Given the description of an element on the screen output the (x, y) to click on. 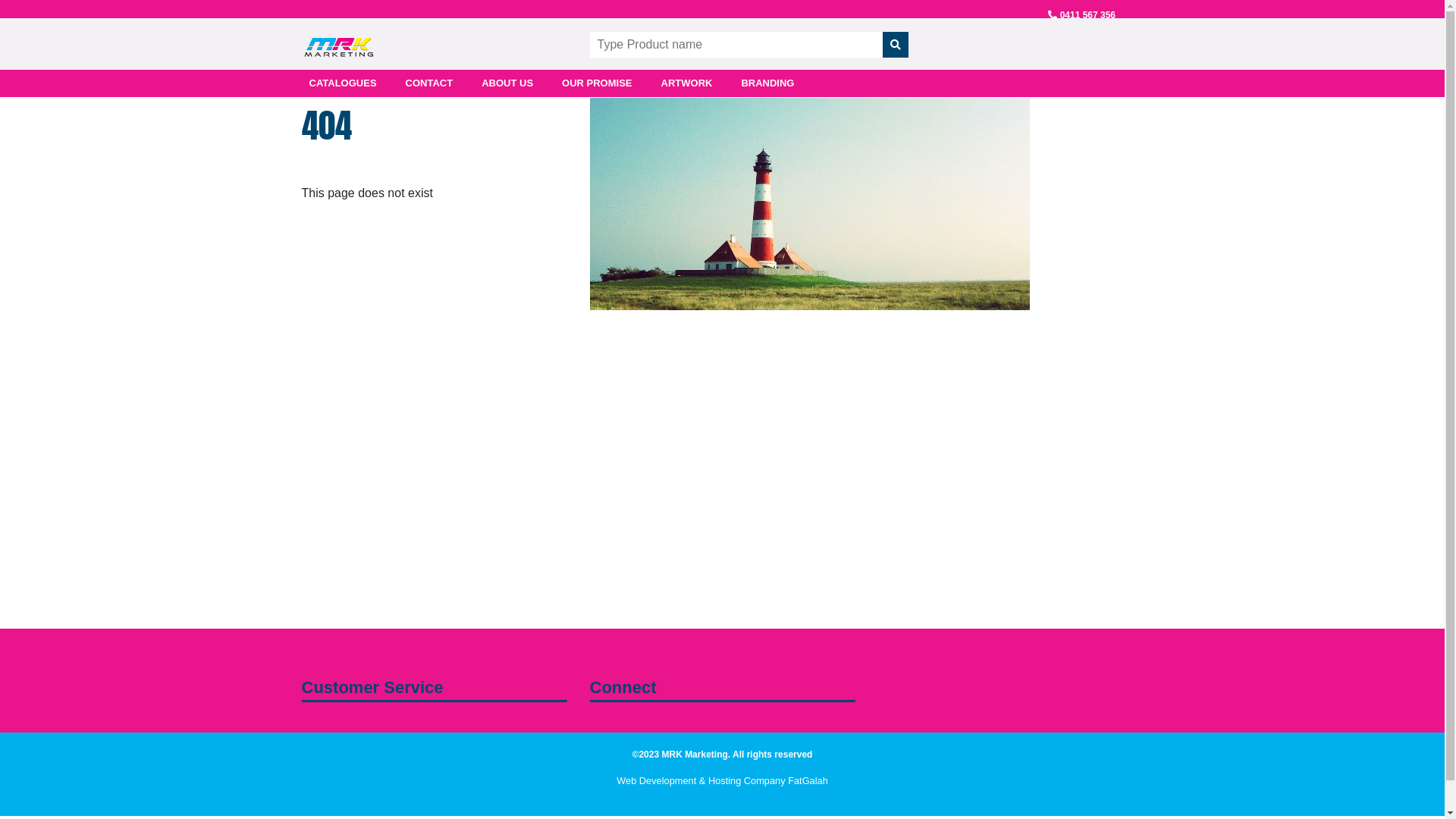
product title Element type: hover (746, 44)
0411 567 356 Element type: text (1087, 14)
CATALOGUES Element type: text (342, 83)
OUR PROMISE Element type: text (596, 83)
ABOUT US Element type: text (506, 83)
Web Development & Hosting Company FatGalah Element type: text (722, 780)
BRANDING Element type: text (767, 83)
CONTACT Element type: text (429, 83)
ARTWORK Element type: text (686, 83)
Logo Element type: hover (337, 42)
